Given the description of an element on the screen output the (x, y) to click on. 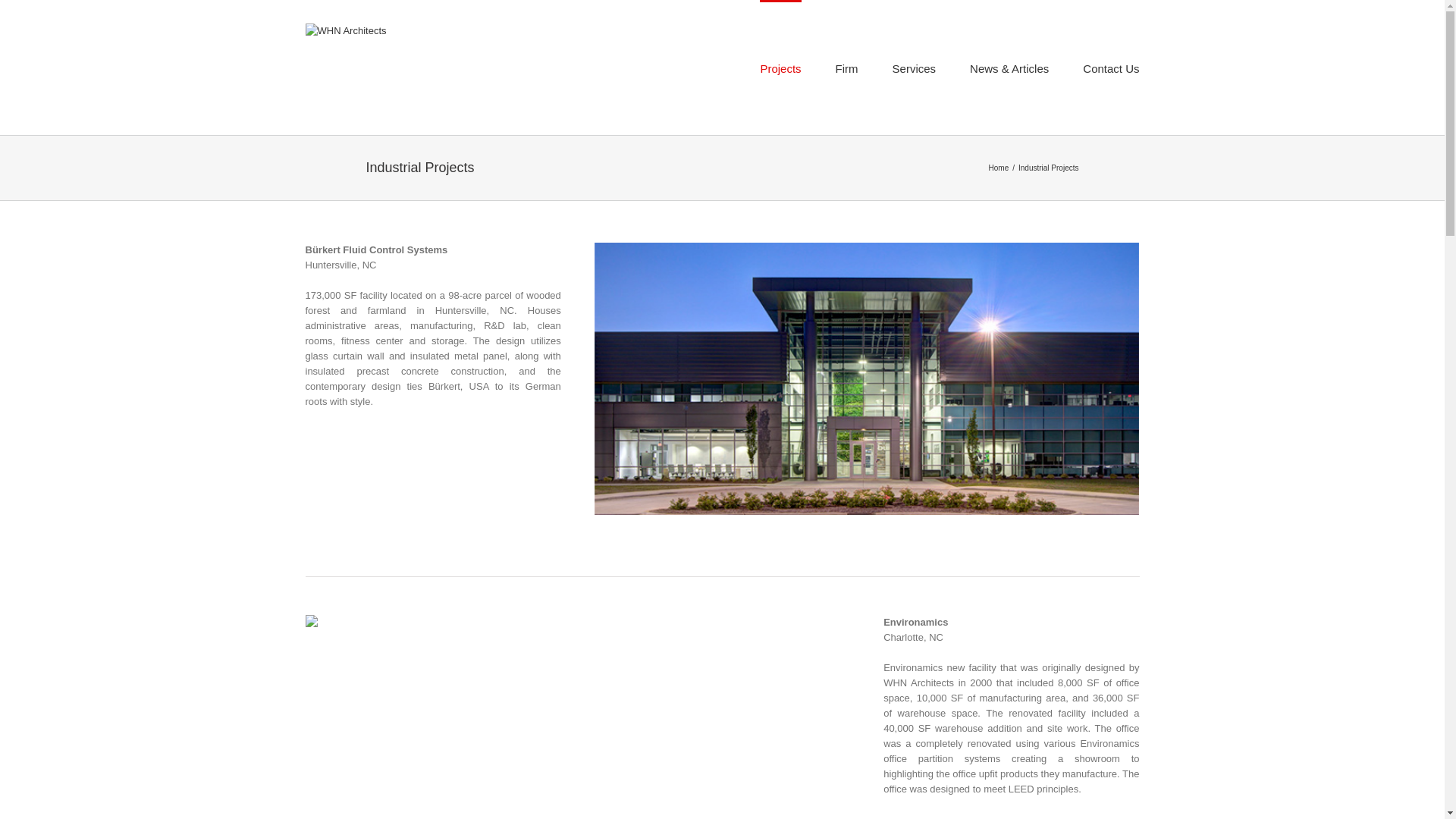
Home (998, 167)
